Given the description of an element on the screen output the (x, y) to click on. 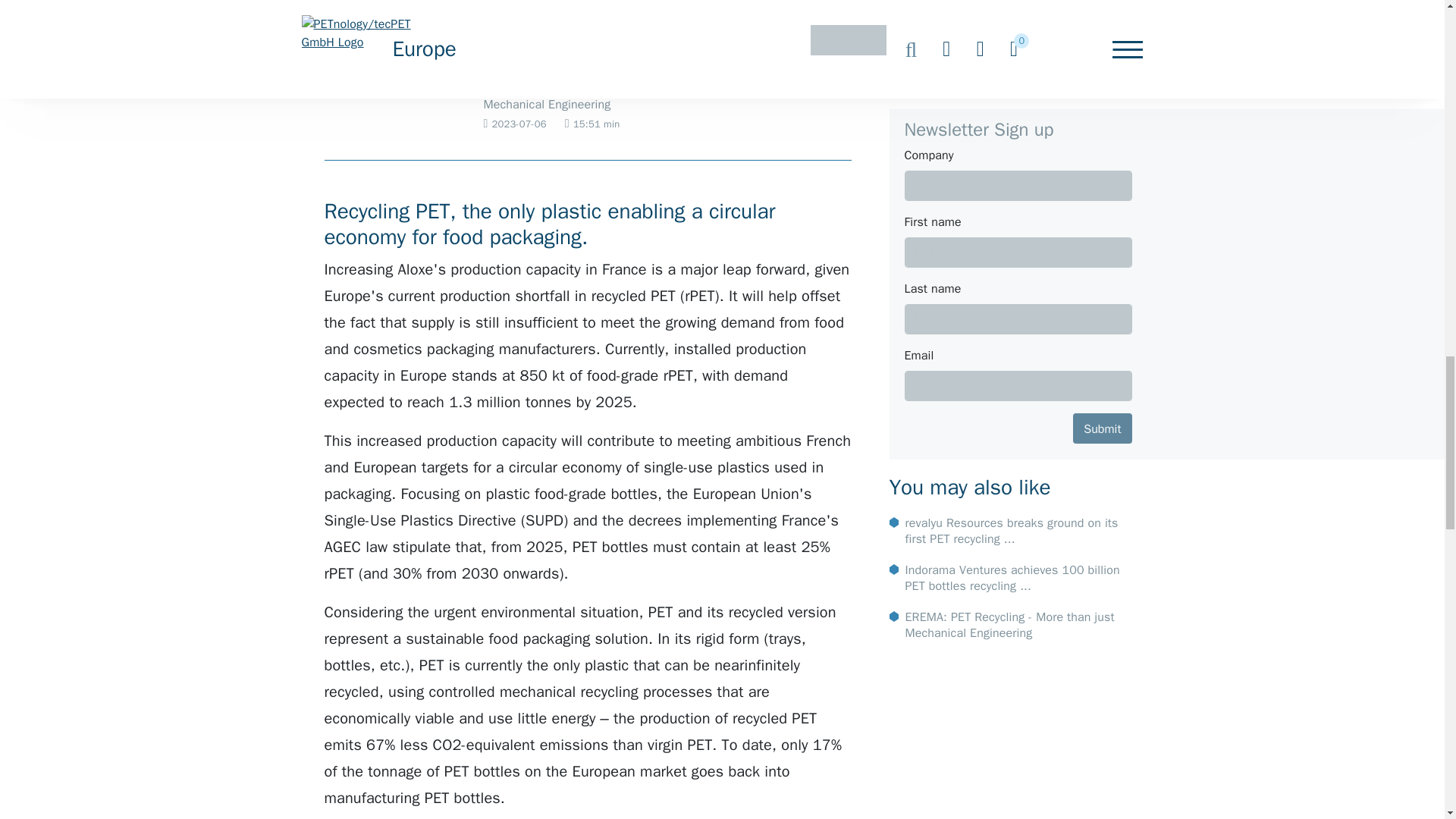
EREMA: PET Recycling - More than just Mechanical Engineering (573, 105)
